Given the description of an element on the screen output the (x, y) to click on. 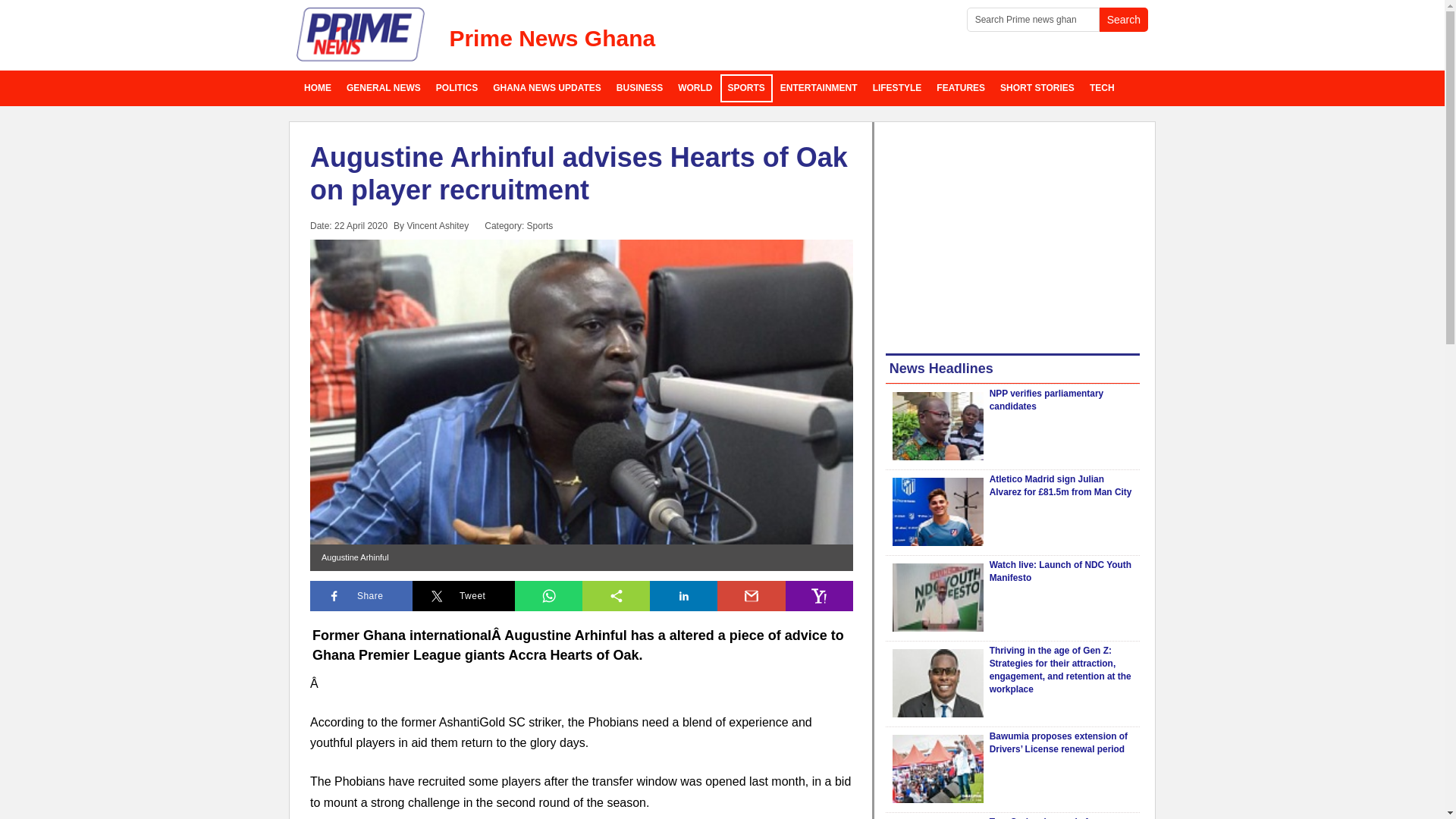
News in ghana (318, 88)
Search (1123, 19)
WORLD (694, 88)
ghana news on prime news ghana (361, 34)
Ghana Features and Opinion Articles (960, 88)
Short Stories on Primenewsghana.com (1036, 88)
NPP verifies parliamentary candidates (1046, 399)
GHANA NEWS UPDATES (546, 88)
Search (1123, 19)
